Given the description of an element on the screen output the (x, y) to click on. 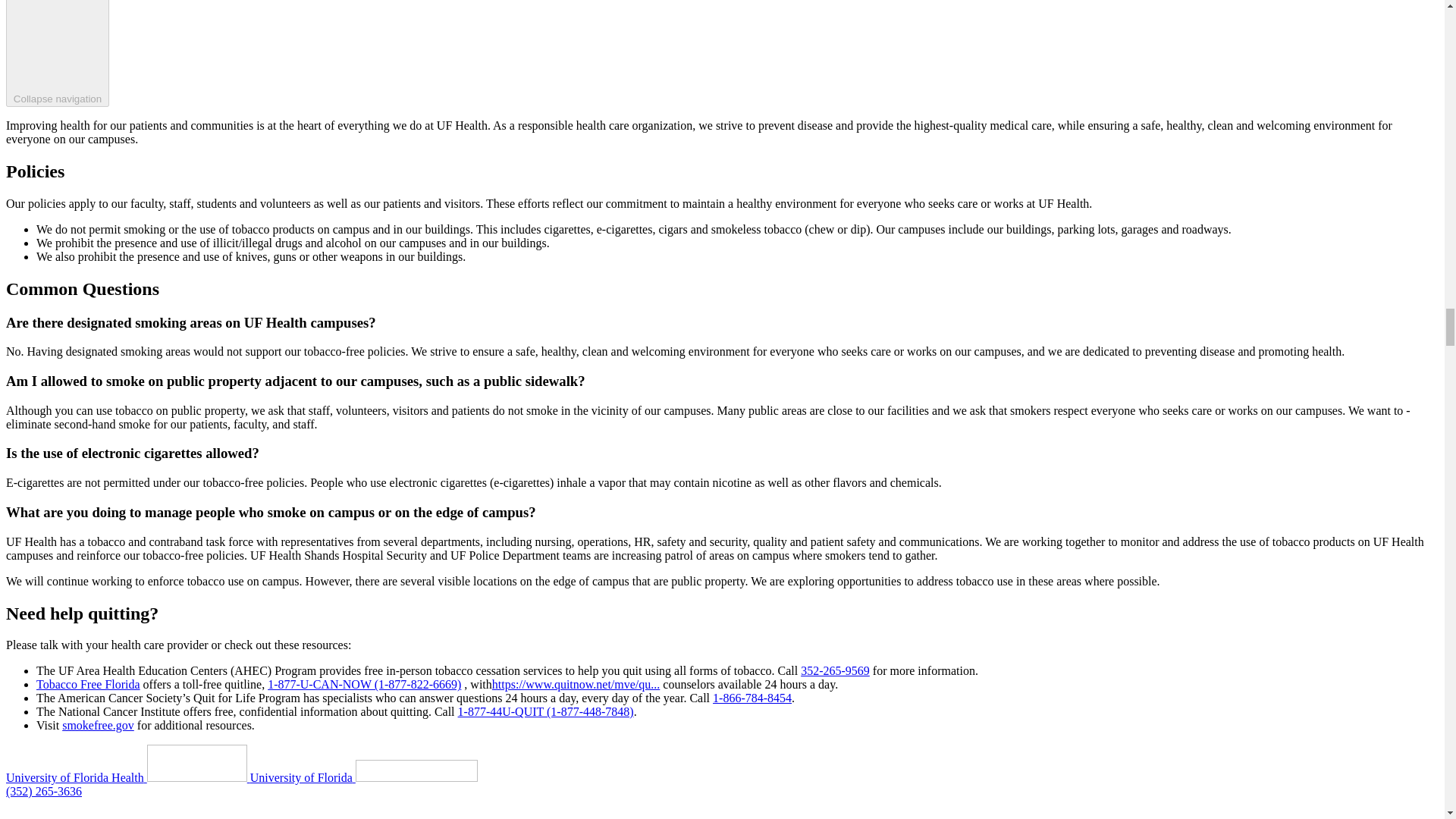
University of Florida Health (127, 777)
Tobacco Free Florida (87, 684)
University of Florida (363, 777)
smokefree.gov (97, 725)
1-866-784-8454 (752, 697)
Collapse navigation (57, 53)
352-265-9569 (834, 670)
